Given the description of an element on the screen output the (x, y) to click on. 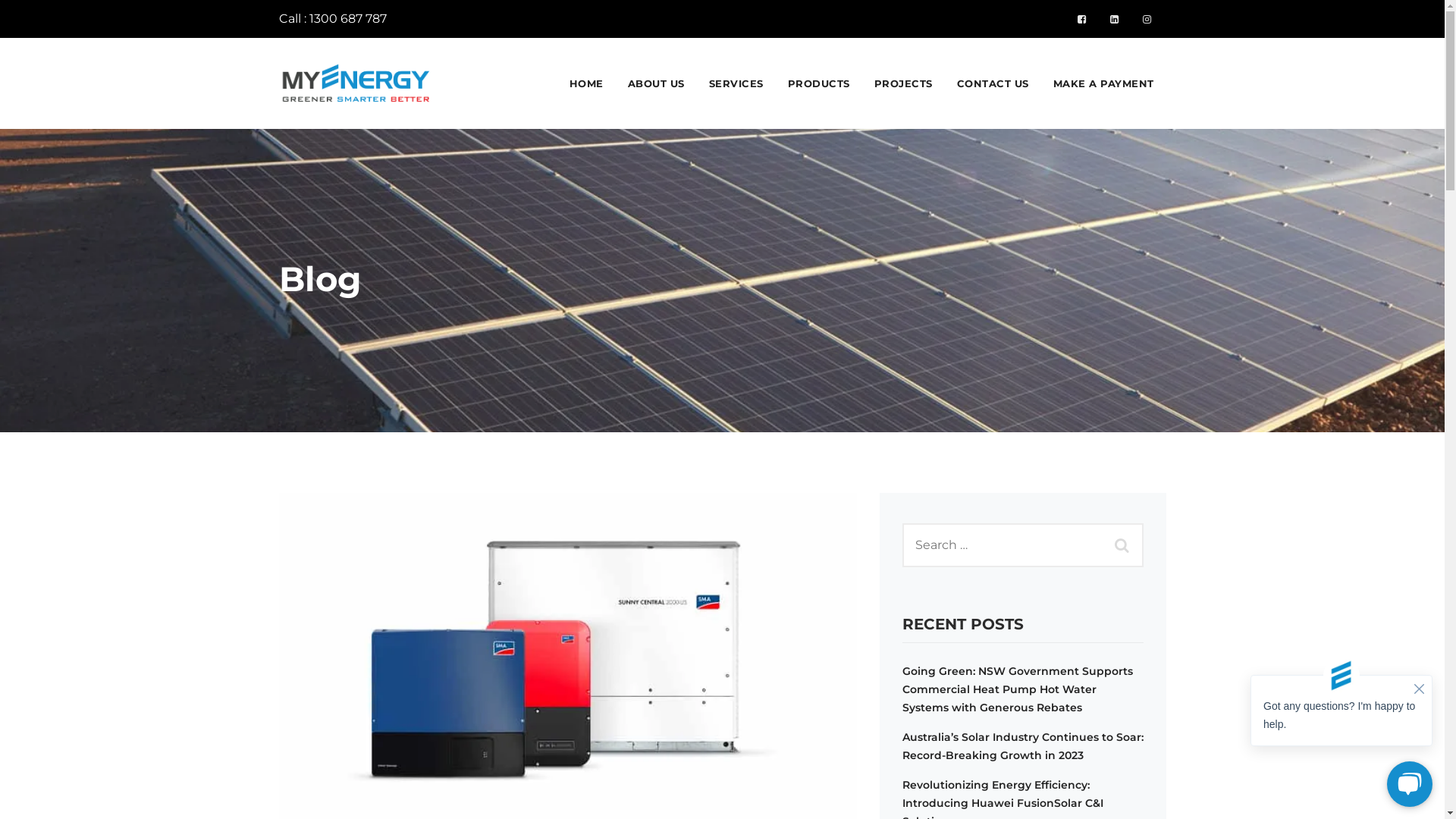
My Energy Group Element type: hover (357, 83)
PROJECTS Element type: text (902, 82)
PRODUCTS Element type: text (818, 82)
CONTACT US Element type: text (993, 82)
ABOUT US Element type: text (655, 82)
HOME Element type: text (585, 82)
MAKE A PAYMENT Element type: text (1102, 82)
SERVICES Element type: text (735, 82)
